Given the description of an element on the screen output the (x, y) to click on. 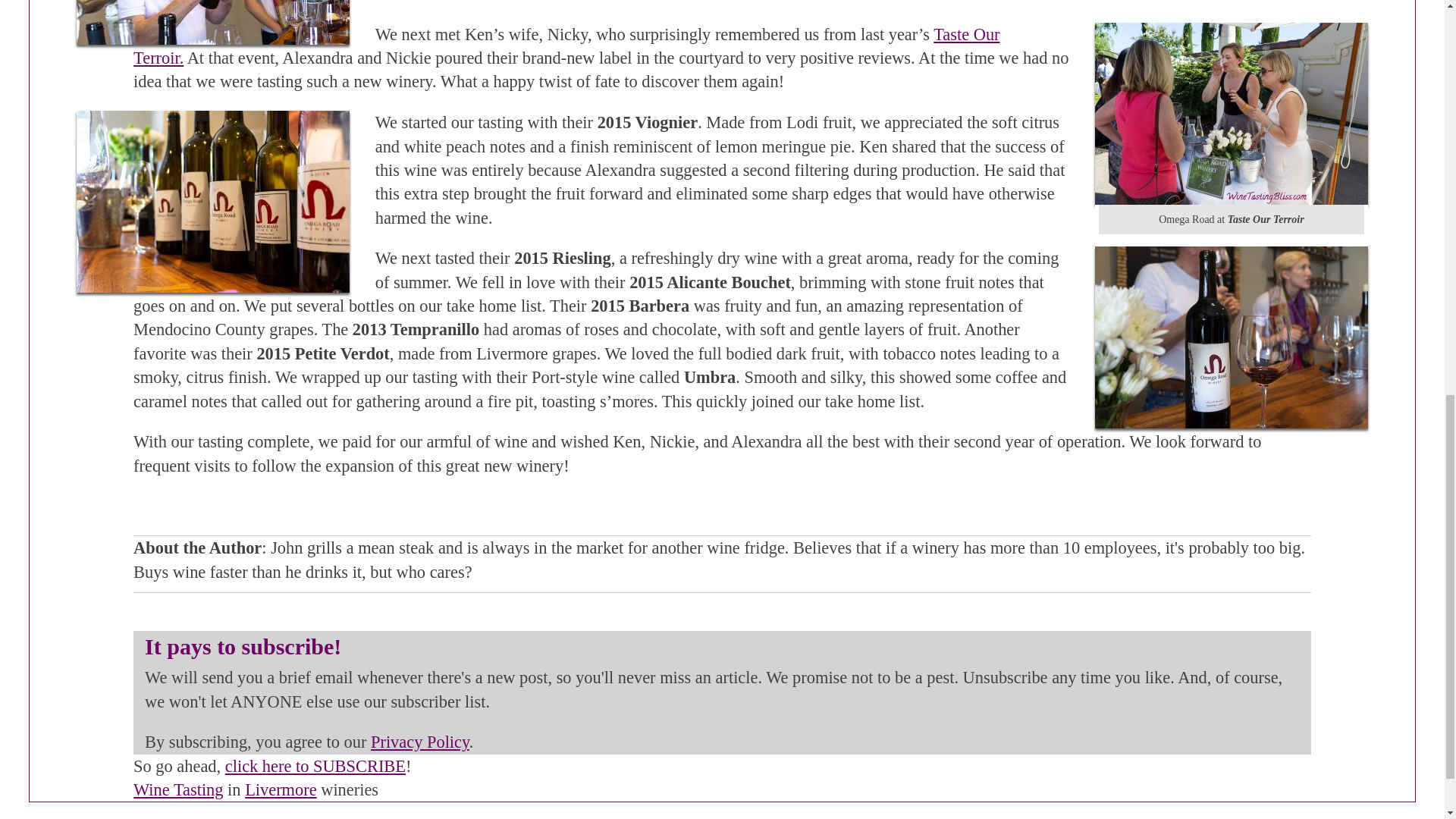
click here to SUBSCRIBE (315, 765)
Livermore (280, 789)
Privacy Policy (419, 741)
Taste Our Terroir. (565, 46)
Wine Tasting (177, 789)
